Given the description of an element on the screen output the (x, y) to click on. 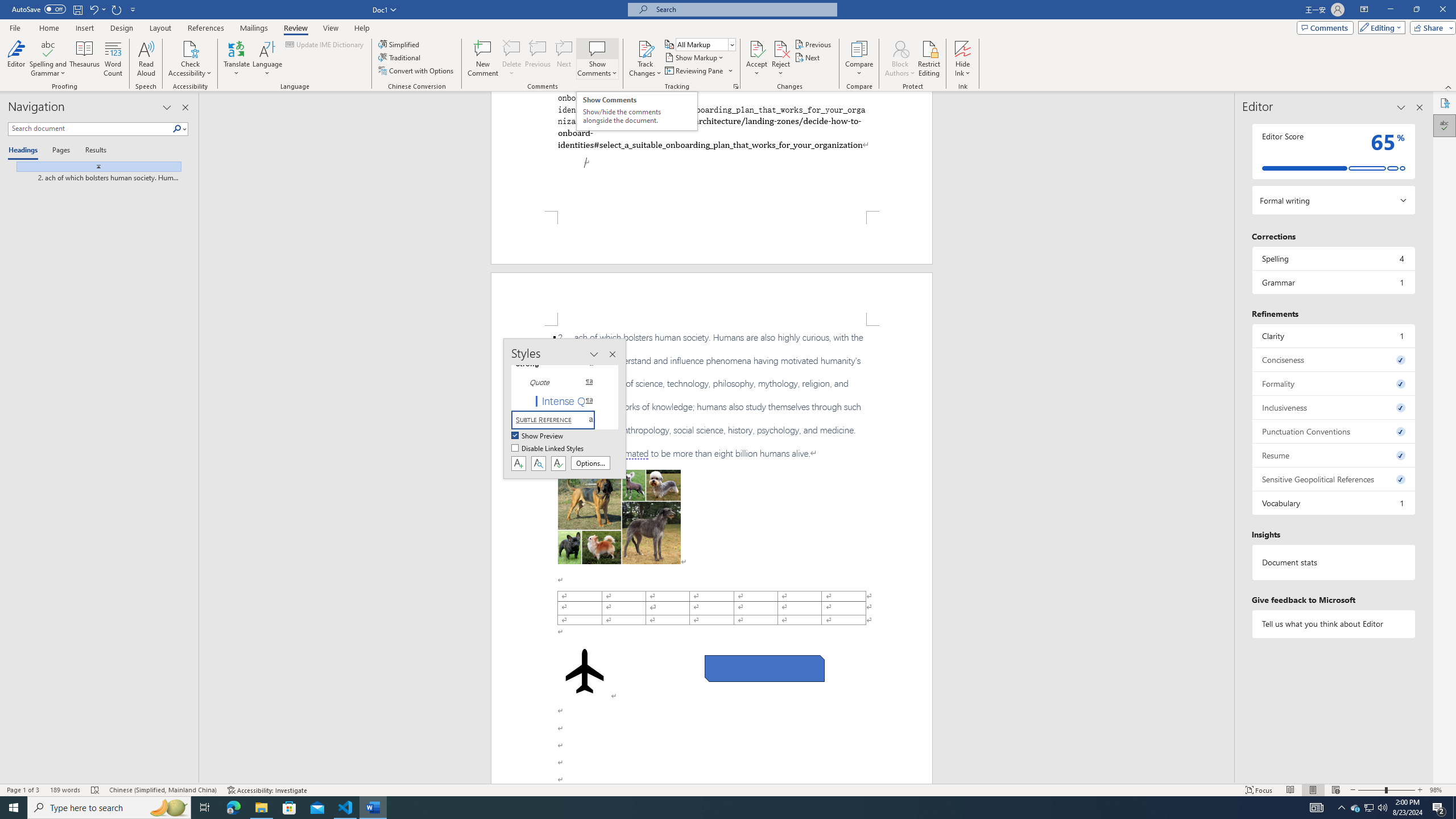
Reviewing Pane (694, 69)
Clarity, 1 issue. Press space or enter to review items. (1333, 335)
Thesaurus... (84, 58)
Spelling and Grammar (48, 58)
Disable Linked Styles (548, 448)
Accept and Move to Next (756, 48)
